Given the description of an element on the screen output the (x, y) to click on. 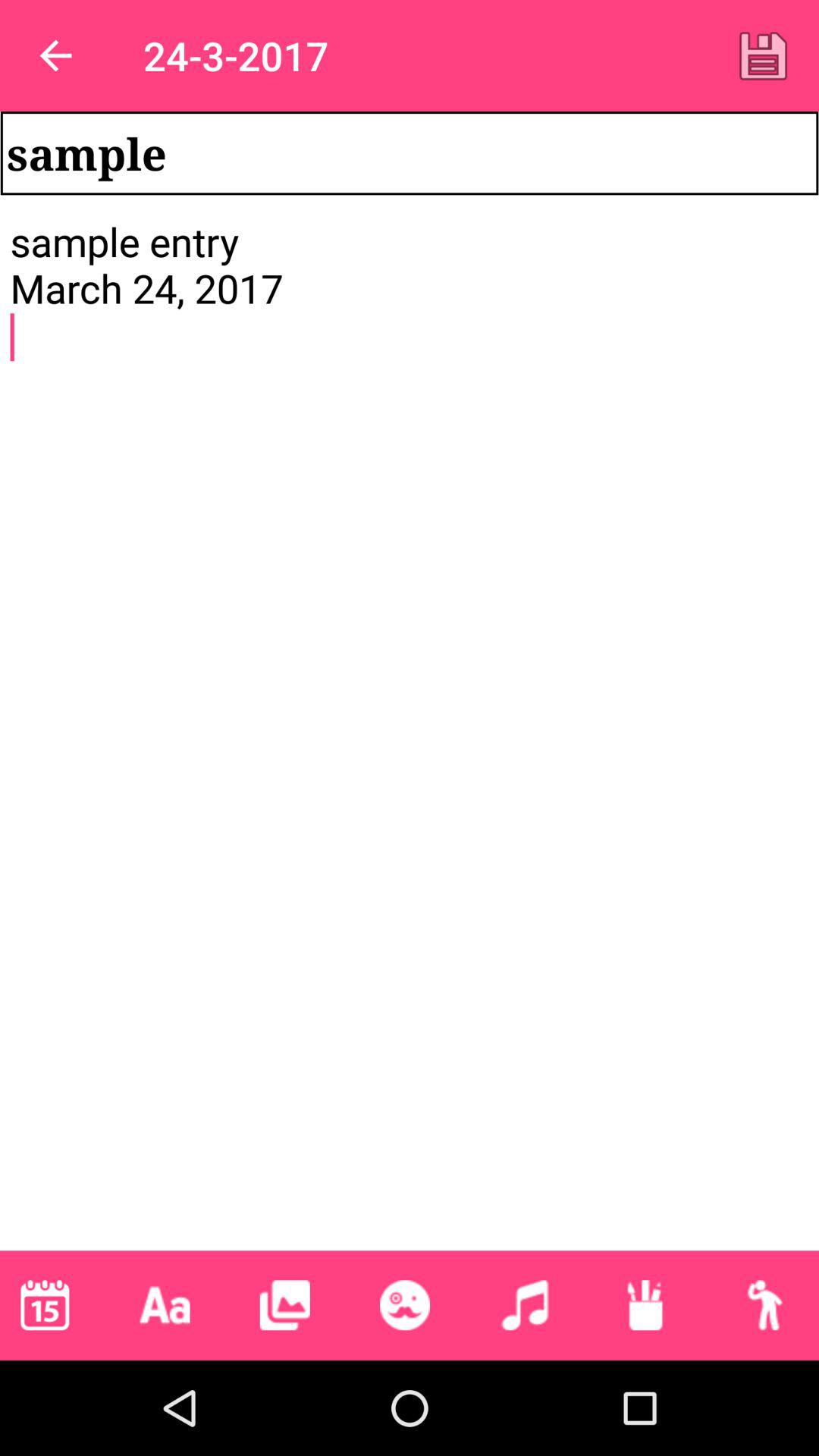
search for (764, 1305)
